Given the description of an element on the screen output the (x, y) to click on. 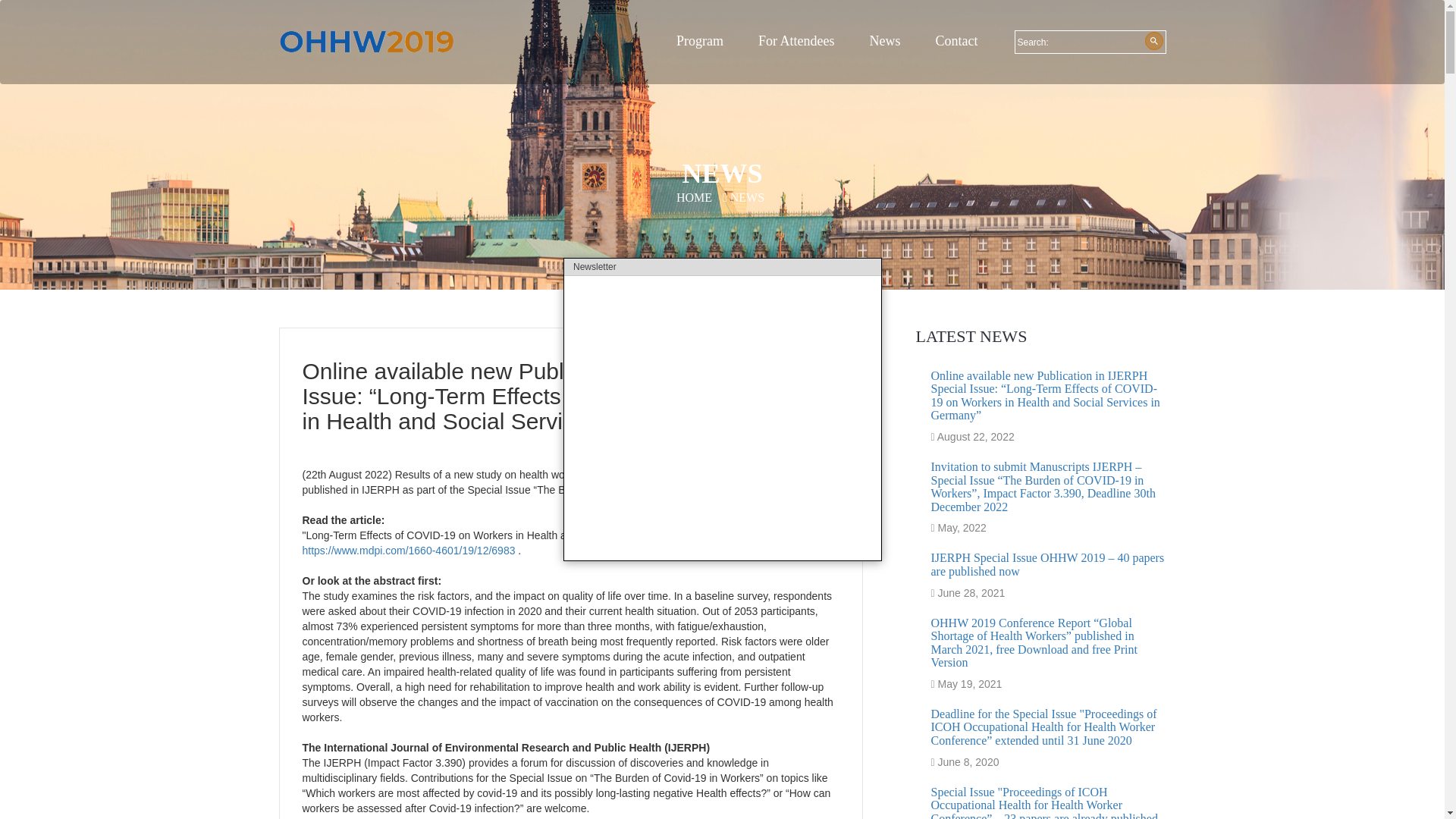
Search: (1079, 41)
Contact (955, 40)
HOME (694, 196)
NEWS (743, 196)
For Attendees (796, 40)
Program (700, 40)
